Given the description of an element on the screen output the (x, y) to click on. 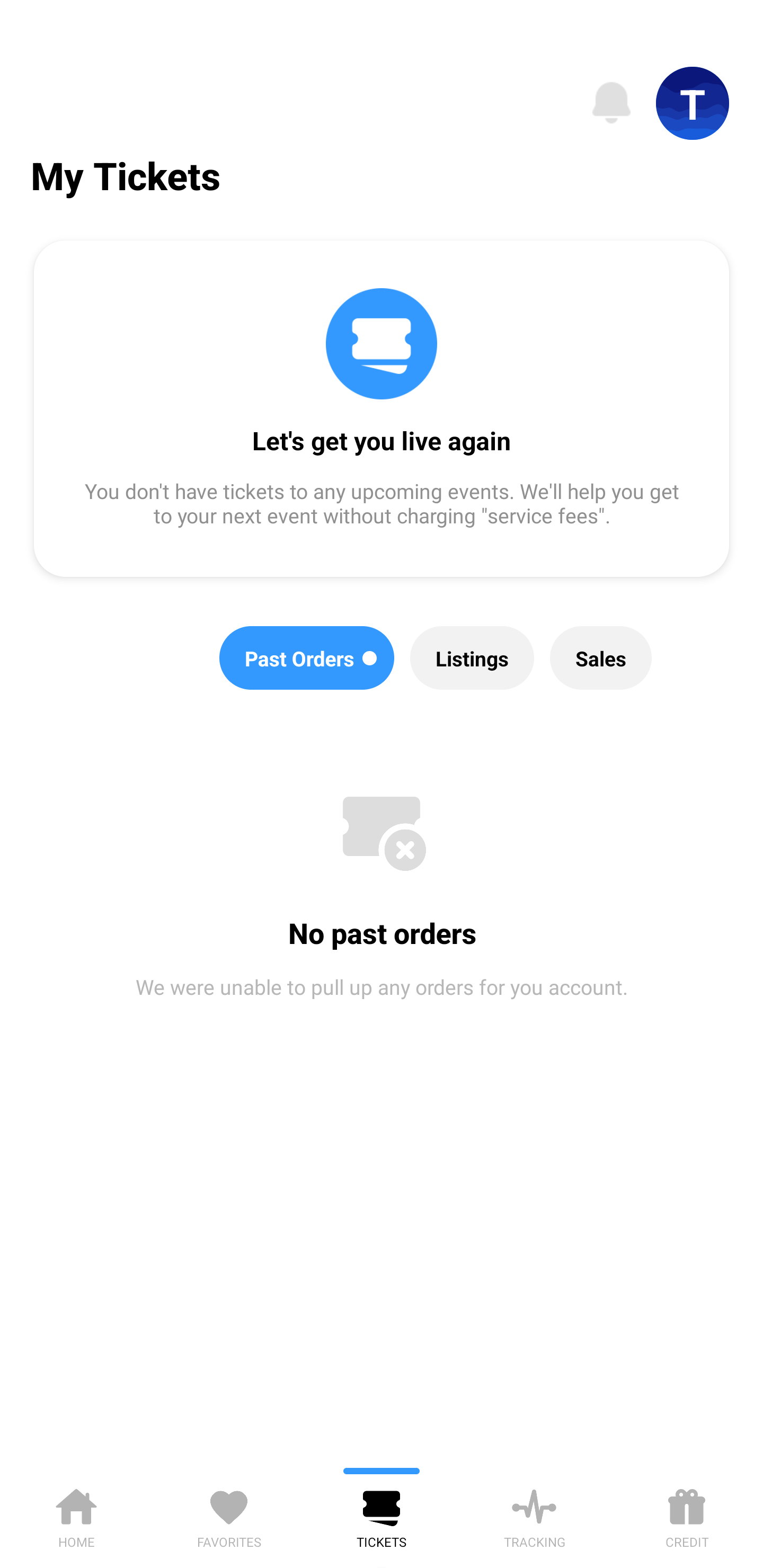
T (692, 103)
Past Orders (306, 657)
Listings (472, 657)
Sales (600, 657)
HOME (76, 1515)
FAVORITES (228, 1515)
TICKETS (381, 1515)
TRACKING (533, 1515)
CREDIT (686, 1515)
